Given the description of an element on the screen output the (x, y) to click on. 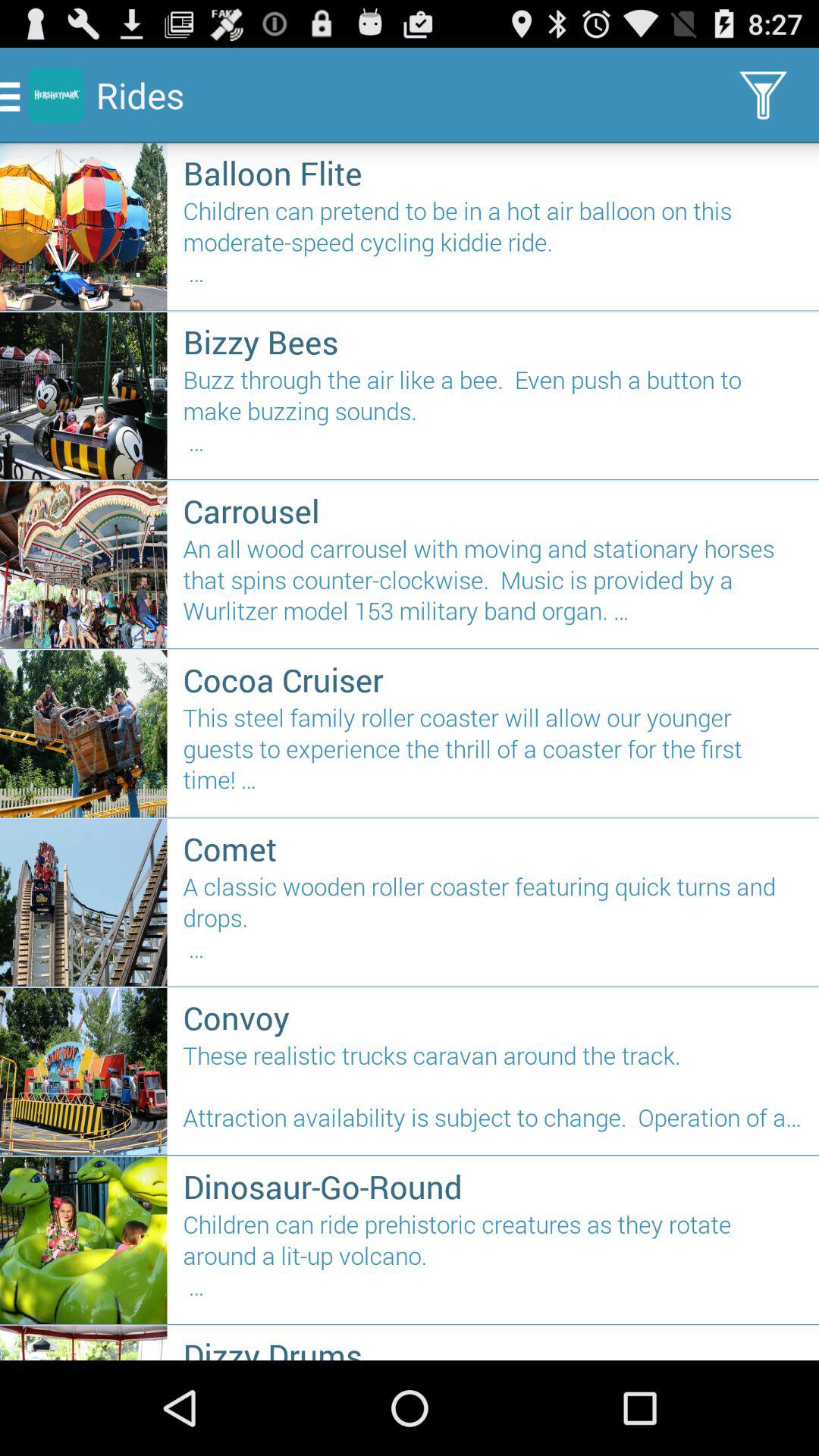
open this steel family item (493, 755)
